Given the description of an element on the screen output the (x, y) to click on. 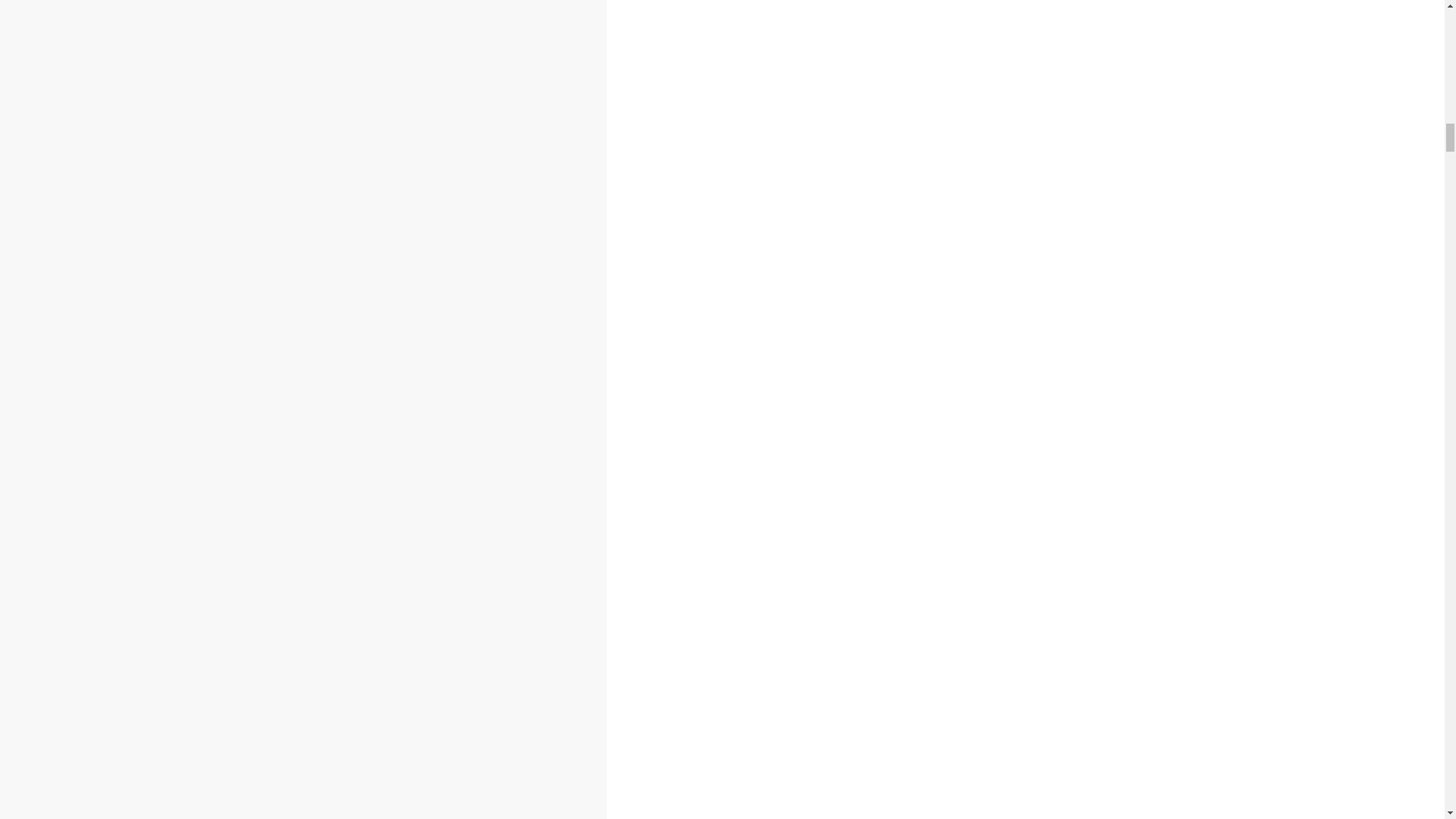
Gambling (85, 522)
Advantages of Playing Poker Online (146, 561)
Martienarichter (201, 592)
